Given the description of an element on the screen output the (x, y) to click on. 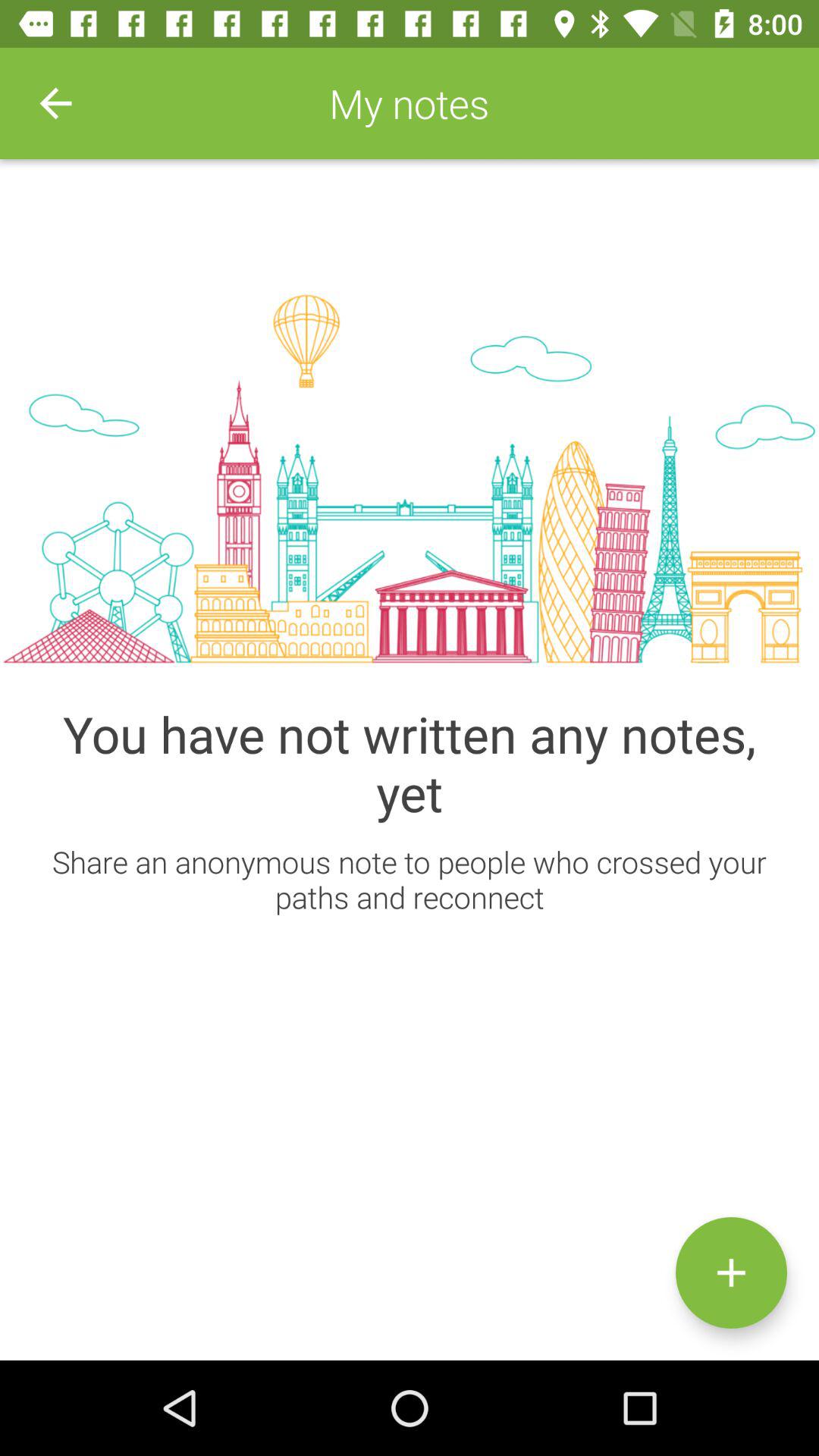
press button to add notes (731, 1272)
